Given the description of an element on the screen output the (x, y) to click on. 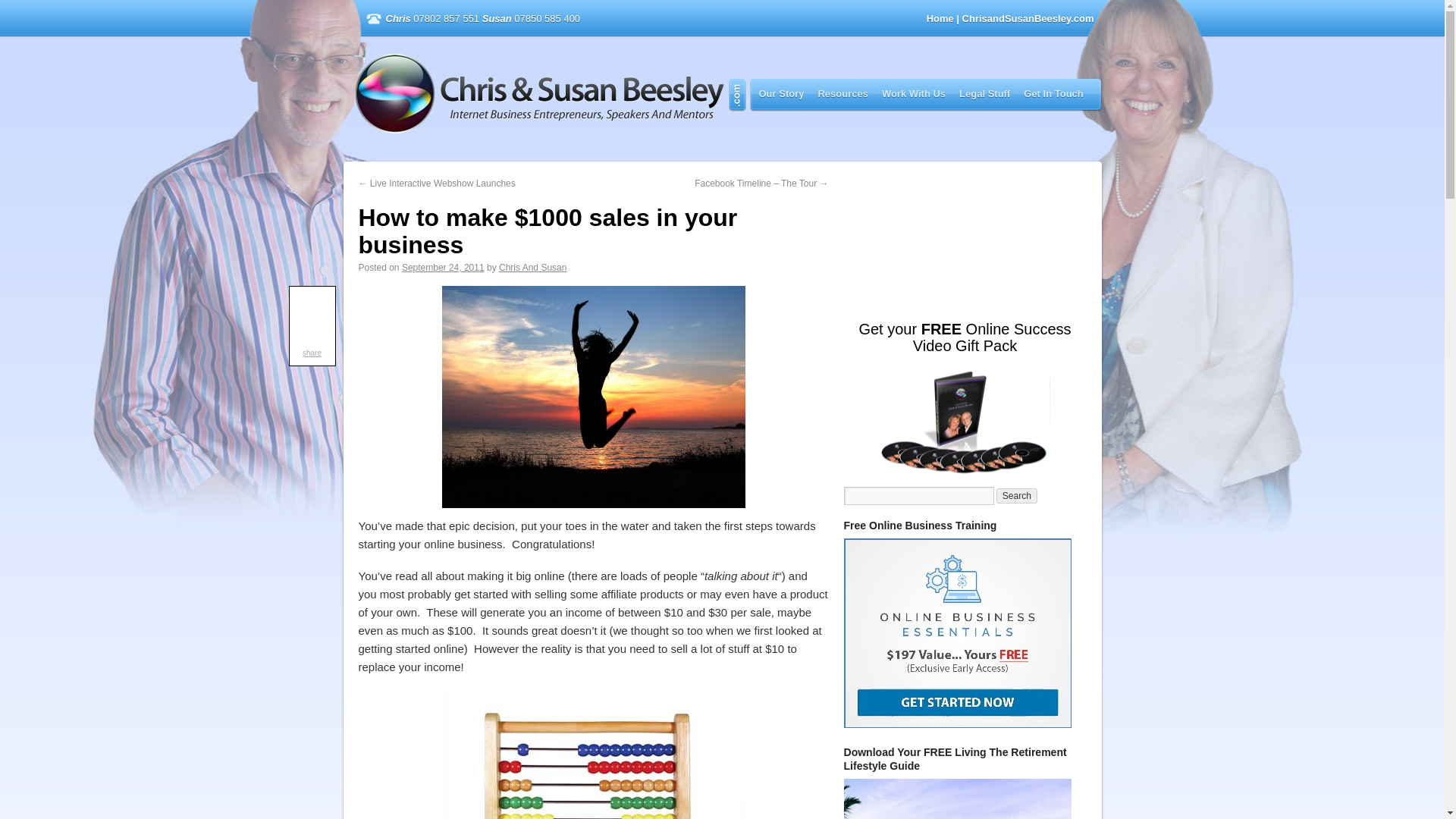
excitement (592, 396)
ChrisandSusanBeesley.com (550, 93)
Chris And Susan (532, 267)
Our Story (780, 93)
share (311, 352)
Resources (841, 93)
Search (1015, 495)
Work With Us (914, 93)
Legal Stuff (984, 93)
View all posts by Chris And Susan (532, 267)
